Given the description of an element on the screen output the (x, y) to click on. 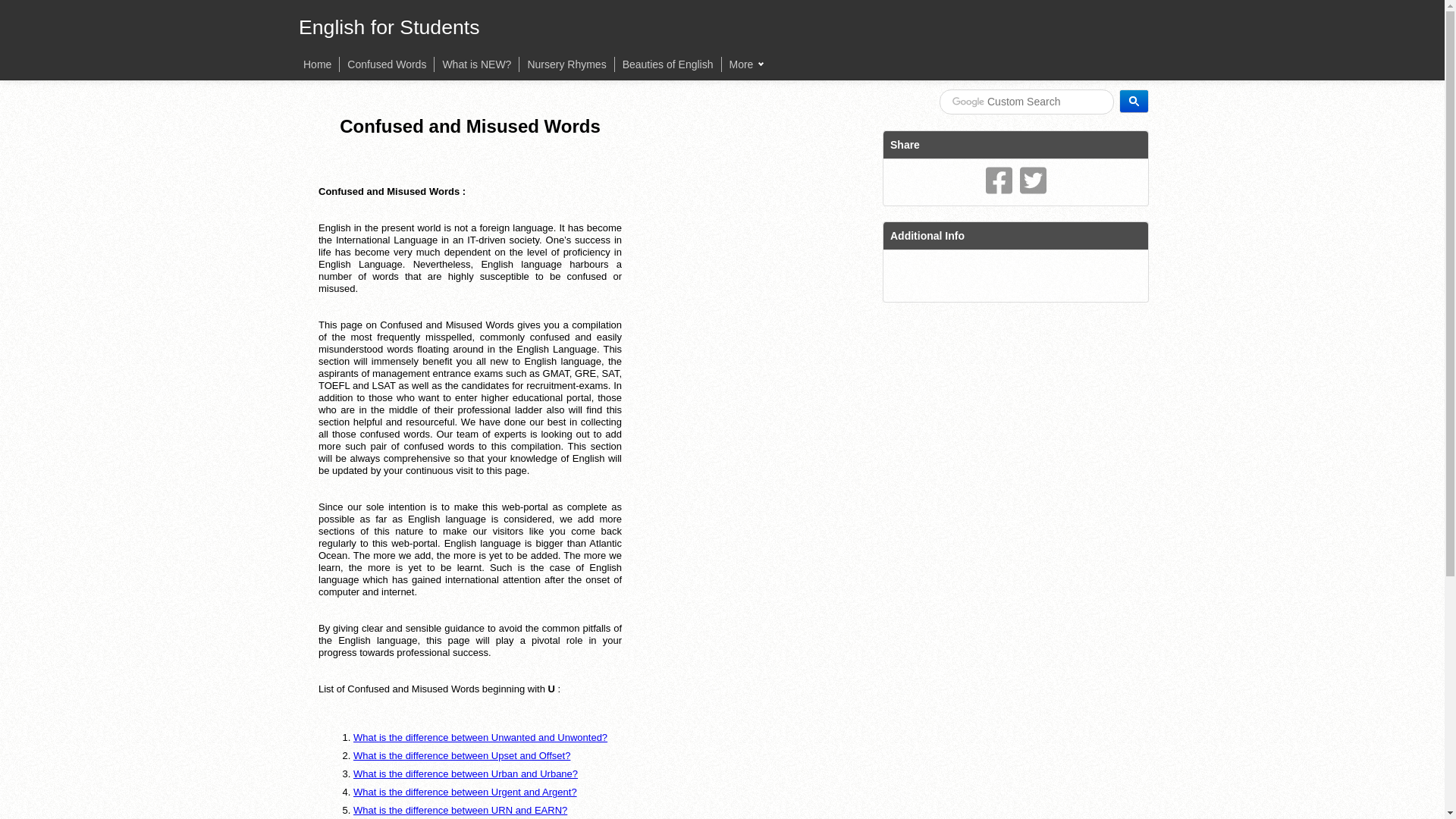
English for Students (389, 26)
Confused Words (386, 64)
What is NEW? (476, 64)
What is the difference between Unwanted and Unwonted? (480, 737)
What is the difference between Upset and Offset? (461, 755)
search (1026, 101)
What is the difference between Urban and Urbane? (465, 773)
Home (316, 64)
More (745, 64)
Nursery Rhymes (566, 64)
